Given the description of an element on the screen output the (x, y) to click on. 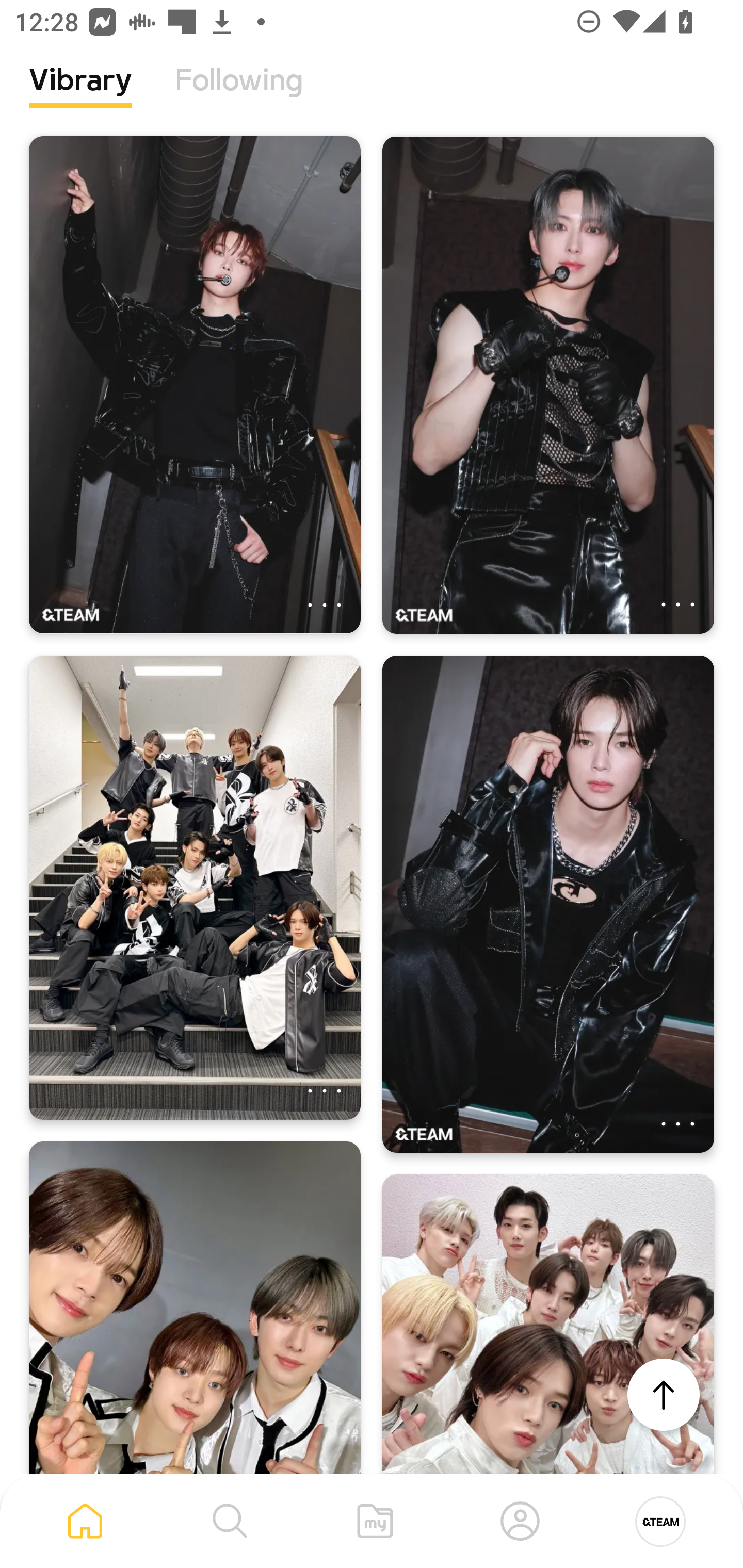
Vibrary (80, 95)
Following (239, 95)
